Given the description of an element on the screen output the (x, y) to click on. 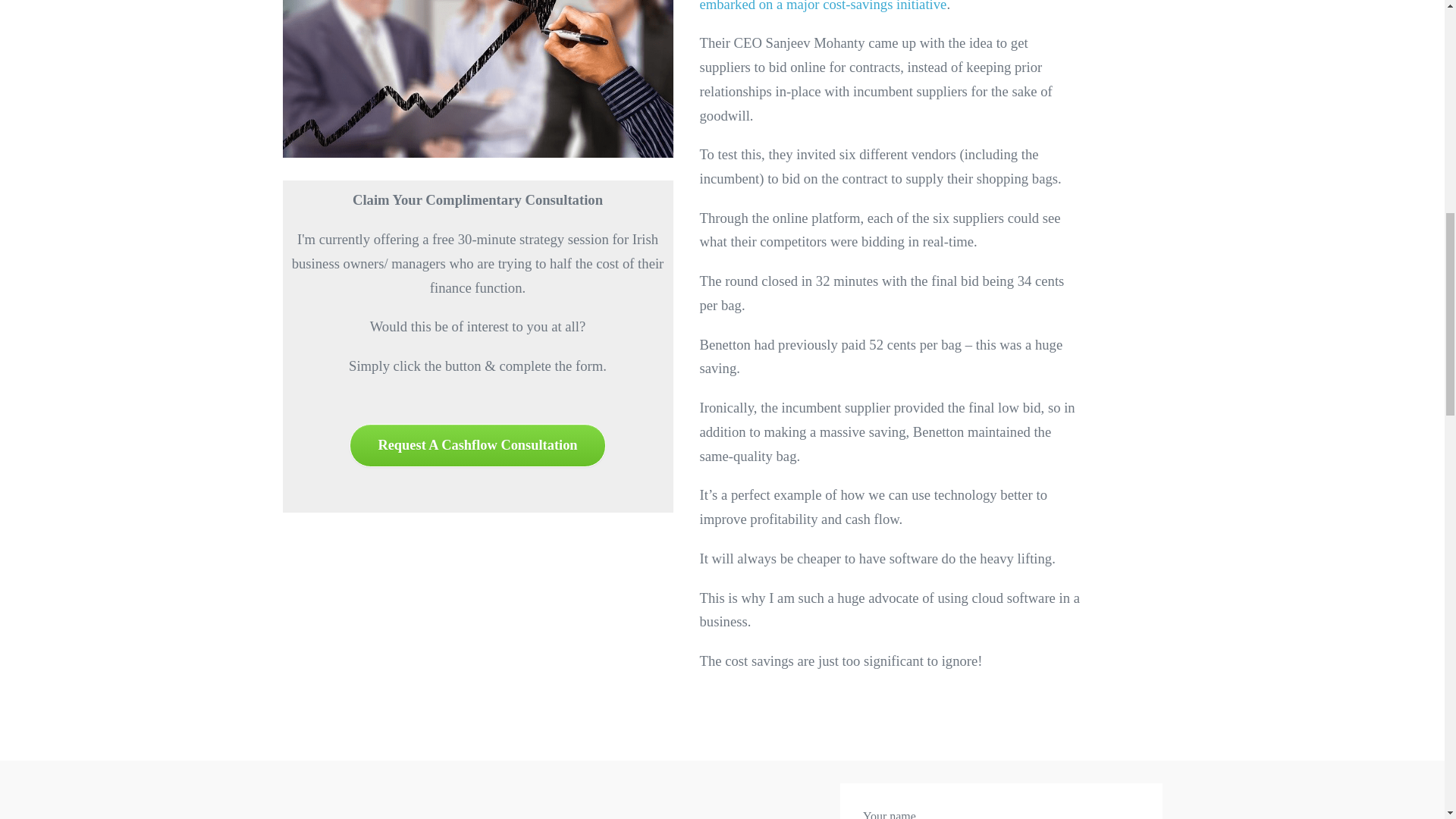
Benetton embarked on a major cost-savings initiative (872, 6)
Request A Cashflow Consultation (478, 445)
